Given the description of an element on the screen output the (x, y) to click on. 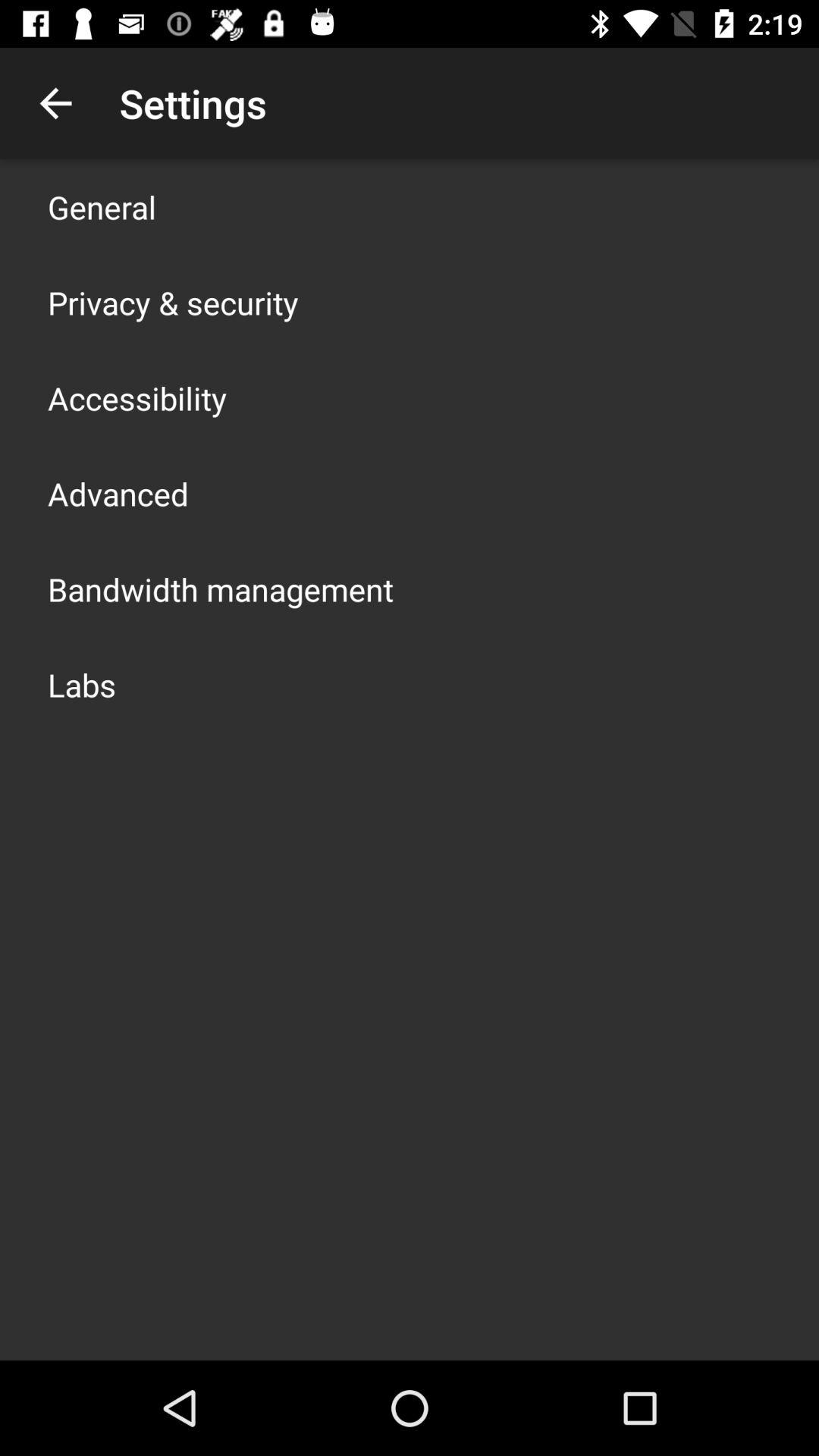
select the icon below the general (172, 302)
